Given the description of an element on the screen output the (x, y) to click on. 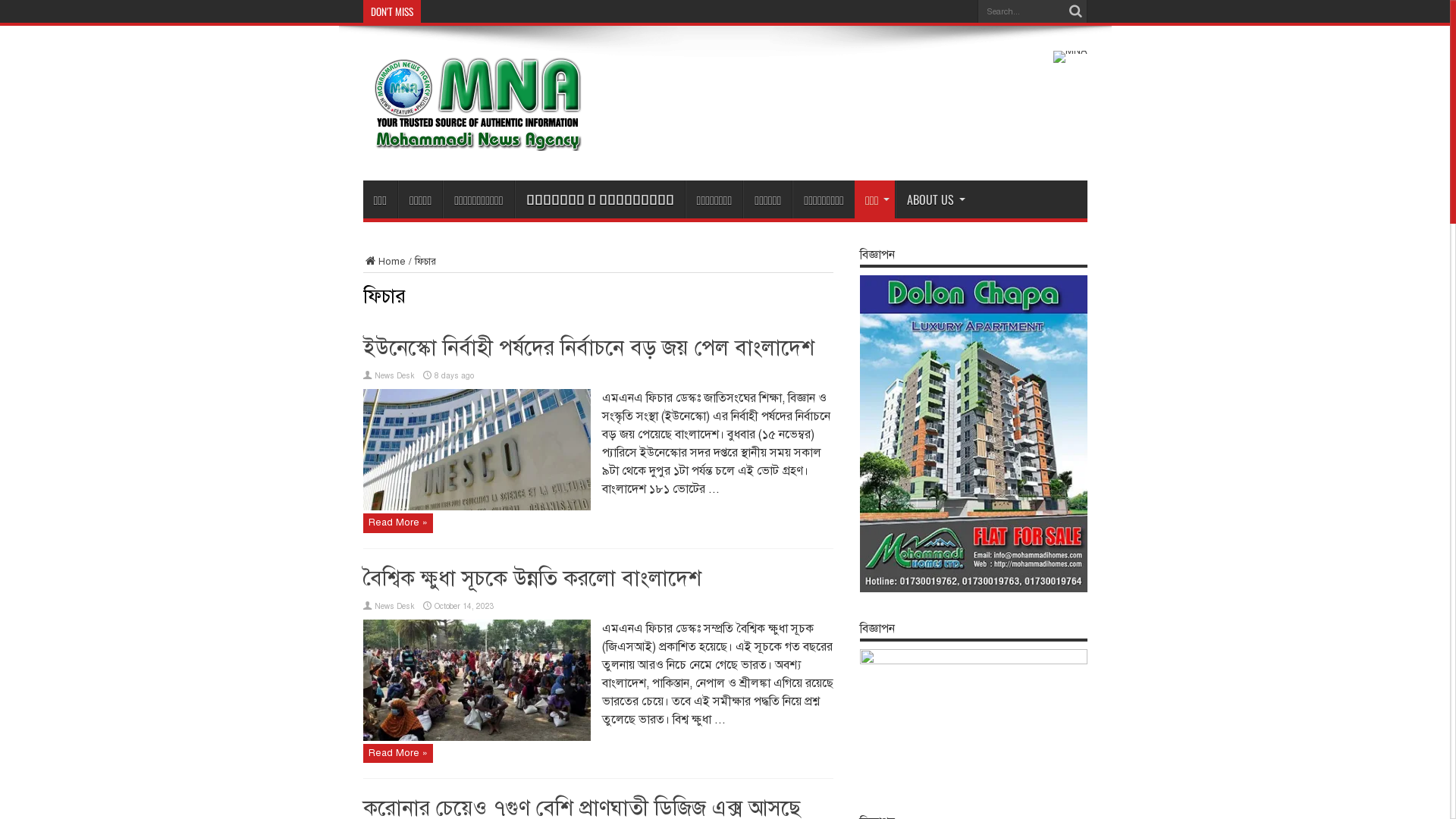
ABOUT US Element type: text (932, 199)
Home Element type: text (383, 261)
News Desk Element type: text (394, 605)
Search Element type: text (1075, 11)
News Desk Element type: text (394, 375)
